Given the description of an element on the screen output the (x, y) to click on. 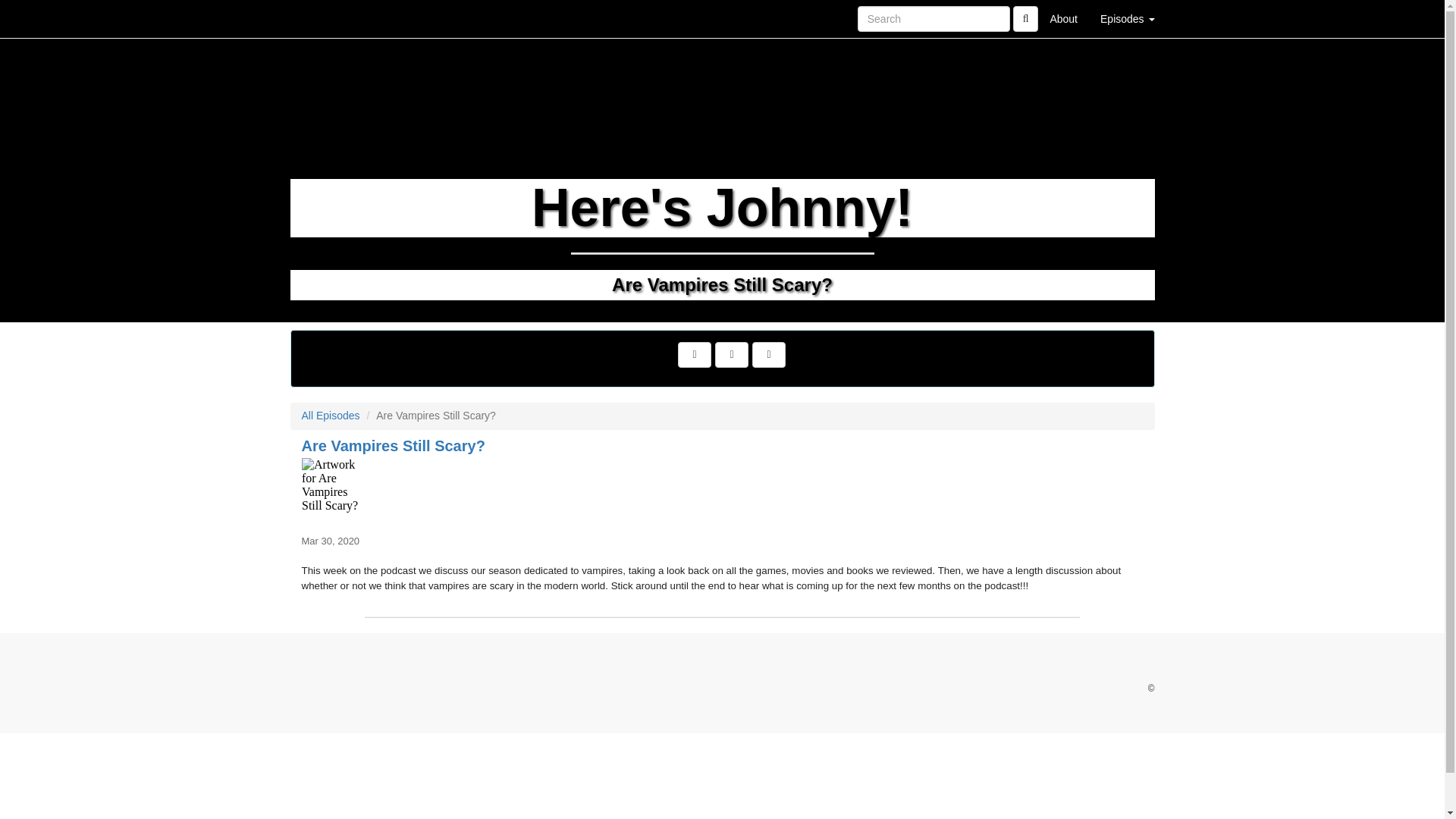
Are Vampires Still Scary? (721, 491)
Home Page (320, 18)
About (1063, 18)
Episodes (1127, 18)
